Given the description of an element on the screen output the (x, y) to click on. 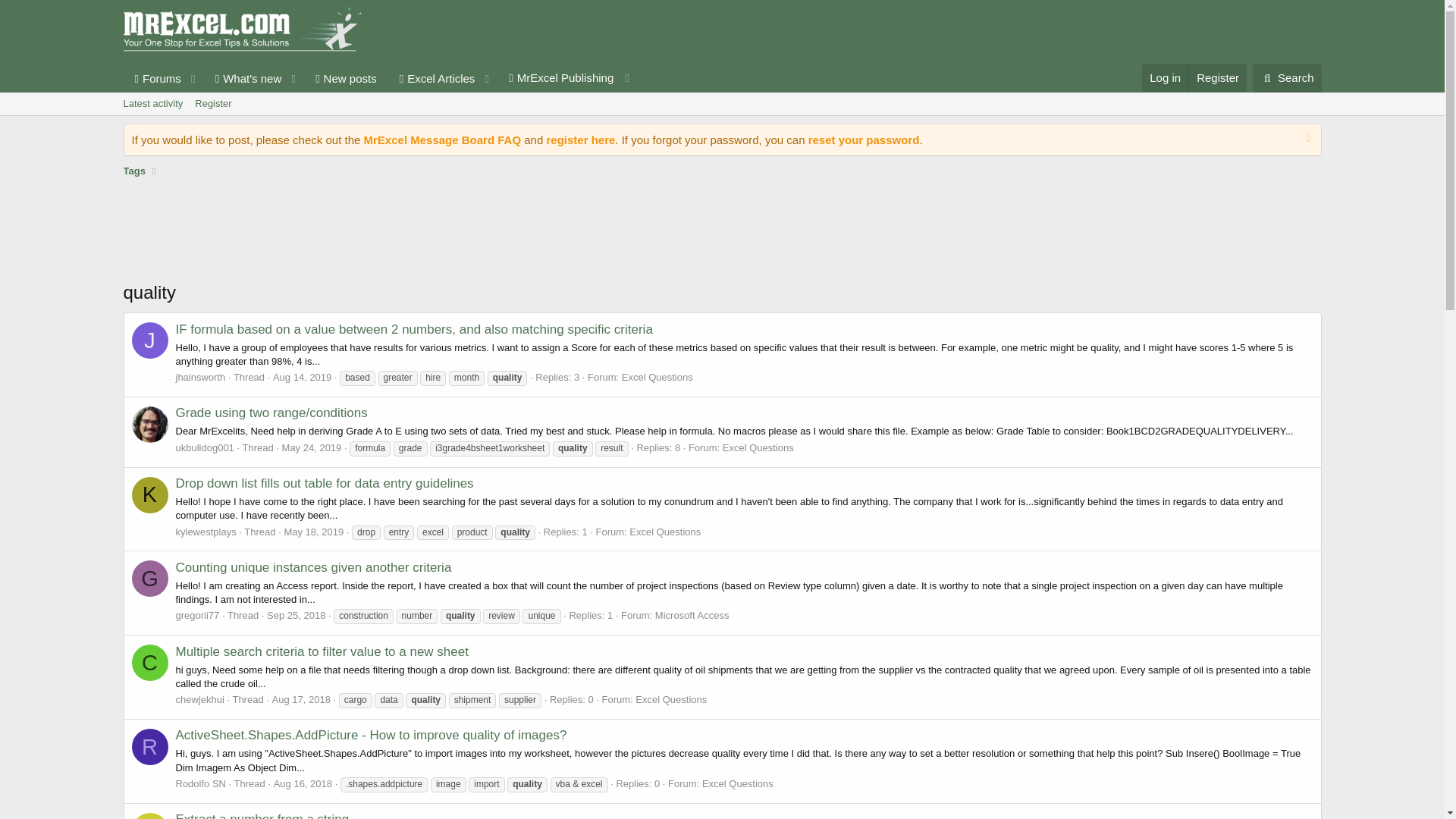
Register (213, 103)
May 18, 2019 at 3:05 AM (313, 531)
Latest activity (152, 103)
Log in (1164, 77)
MrExcel Publishing (567, 77)
New posts (346, 78)
What's new (242, 78)
Aug 16, 2018 at 4:21 AM (721, 120)
